Given the description of an element on the screen output the (x, y) to click on. 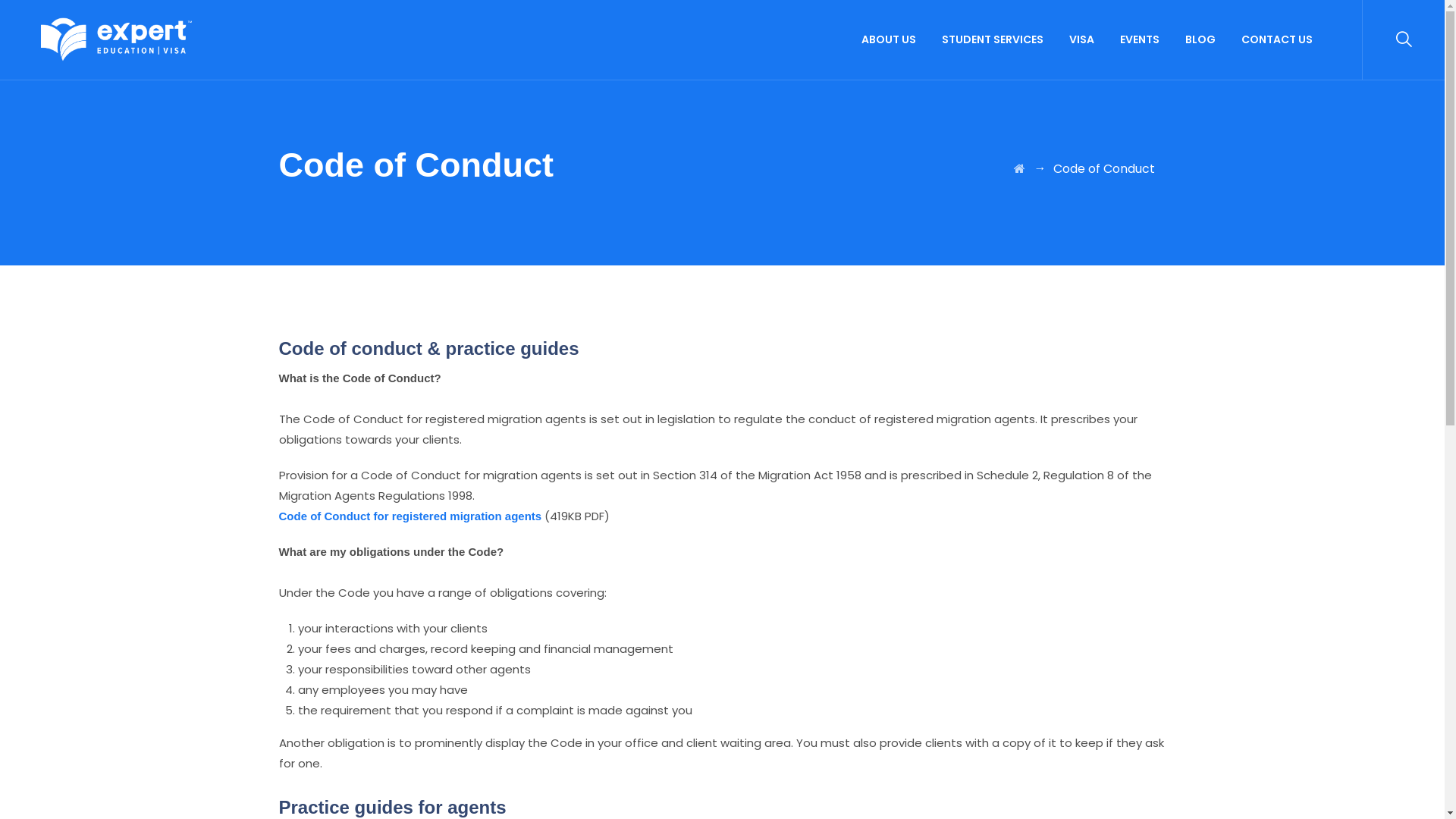
STUDENT SERVICES Element type: text (992, 39)
VISA Element type: text (1081, 39)
Expert Education Australia Element type: hover (115, 39)
BLOG Element type: text (1200, 39)
CONTACT US Element type: text (1276, 39)
Code of Conduct for registered migration agents Element type: text (410, 516)
Go to Expert Education Australia. Element type: hover (1018, 167)
ABOUT US Element type: text (888, 39)
EVENTS Element type: text (1139, 39)
